Given the description of an element on the screen output the (x, y) to click on. 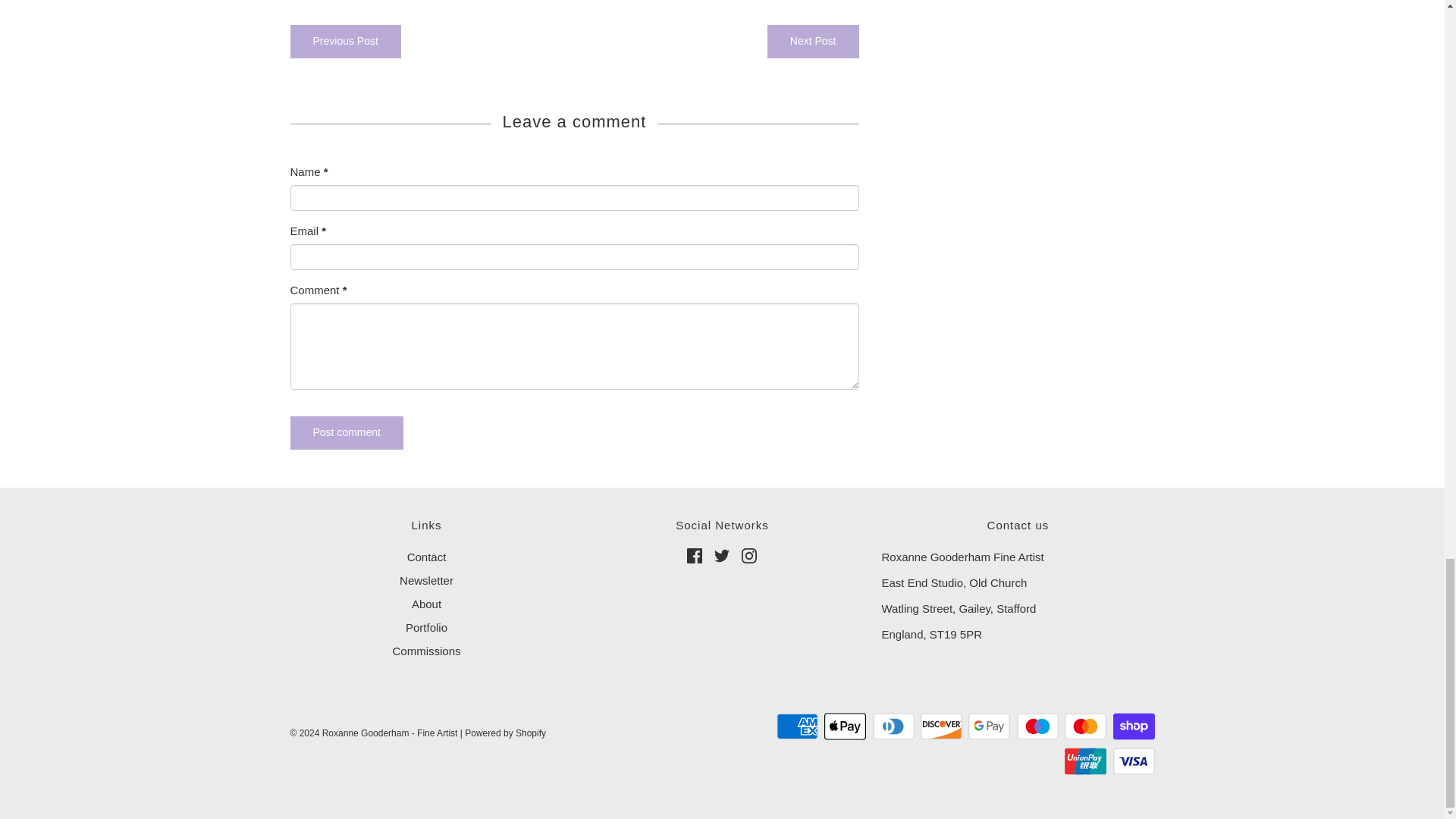
Twitter icon (721, 555)
Visa (1133, 761)
Google Pay (989, 726)
Mastercard (1085, 726)
Apple Pay (845, 726)
American Express (797, 726)
Shop Pay (1133, 726)
Discover (941, 726)
Facebook icon (694, 555)
Instagram icon (749, 555)
